Given the description of an element on the screen output the (x, y) to click on. 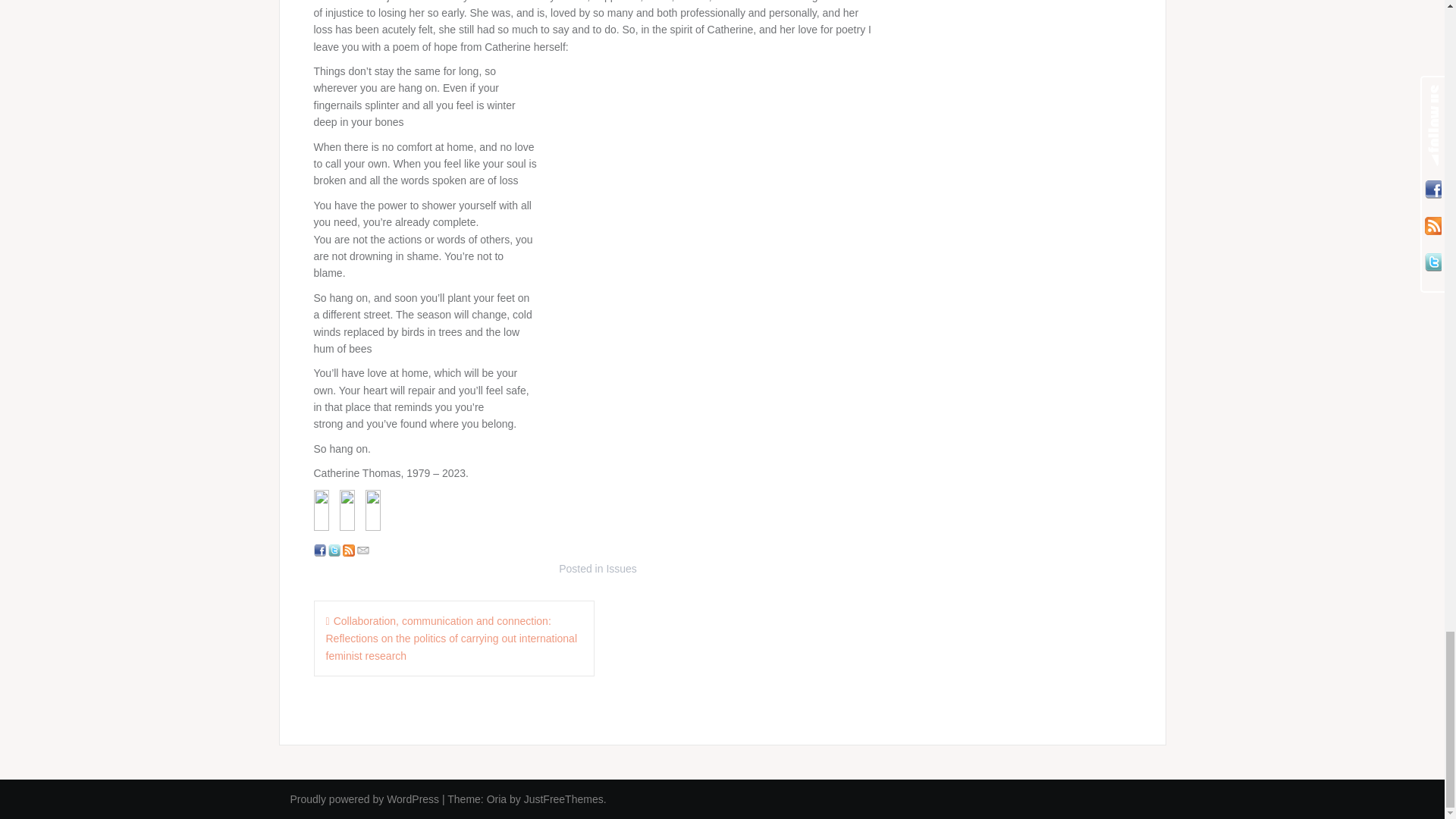
Email this post : Remembering Catherine Thomas  (362, 549)
Follow this post : Remembering Catherine Thomas comments (348, 549)
Tweet this post : Remembering Catherine Thomas on Twitter (333, 549)
Share this post : Remembering Catherine Thomas on Facebook (320, 549)
